Given the description of an element on the screen output the (x, y) to click on. 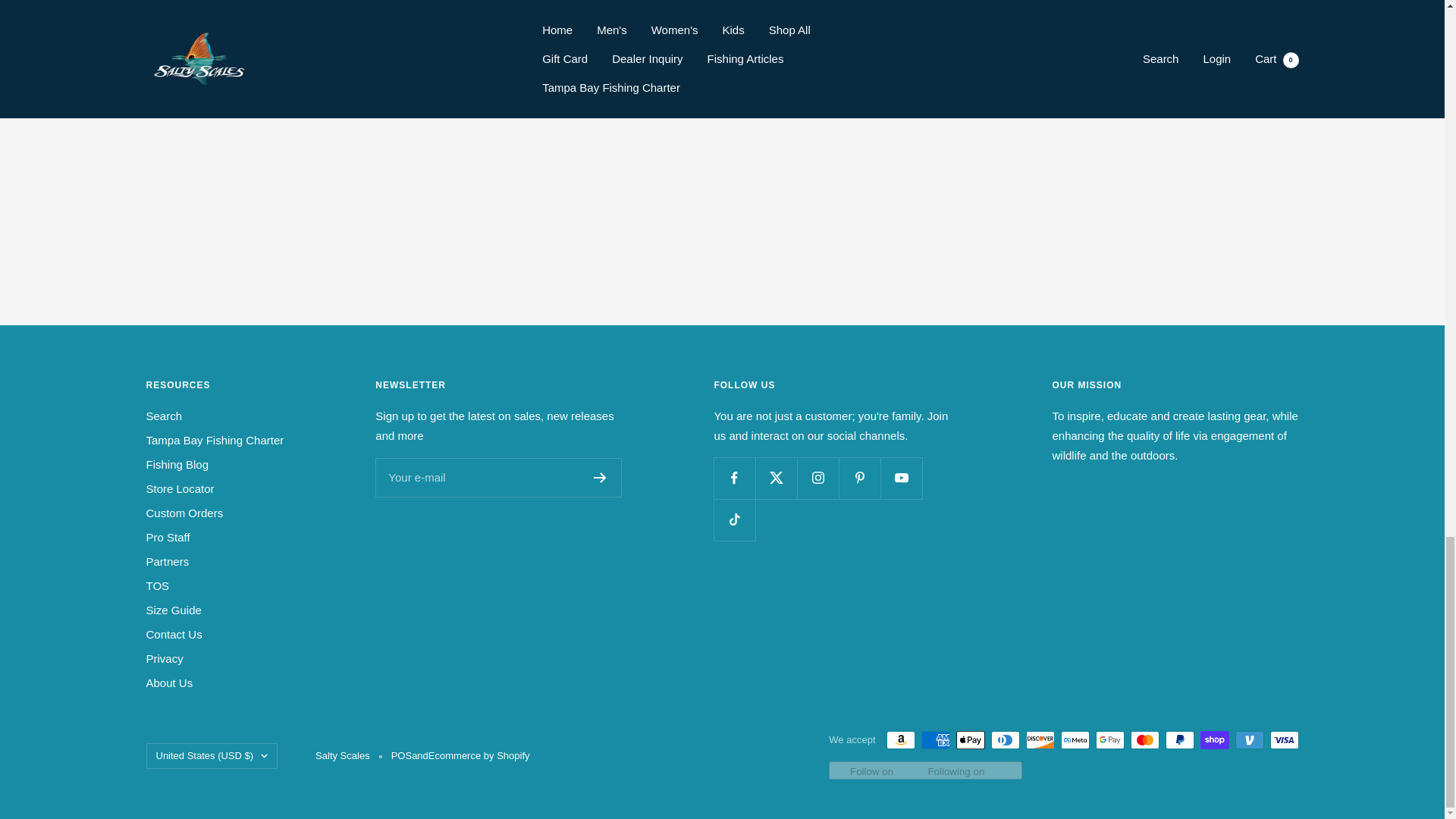
Register (600, 477)
